Given the description of an element on the screen output the (x, y) to click on. 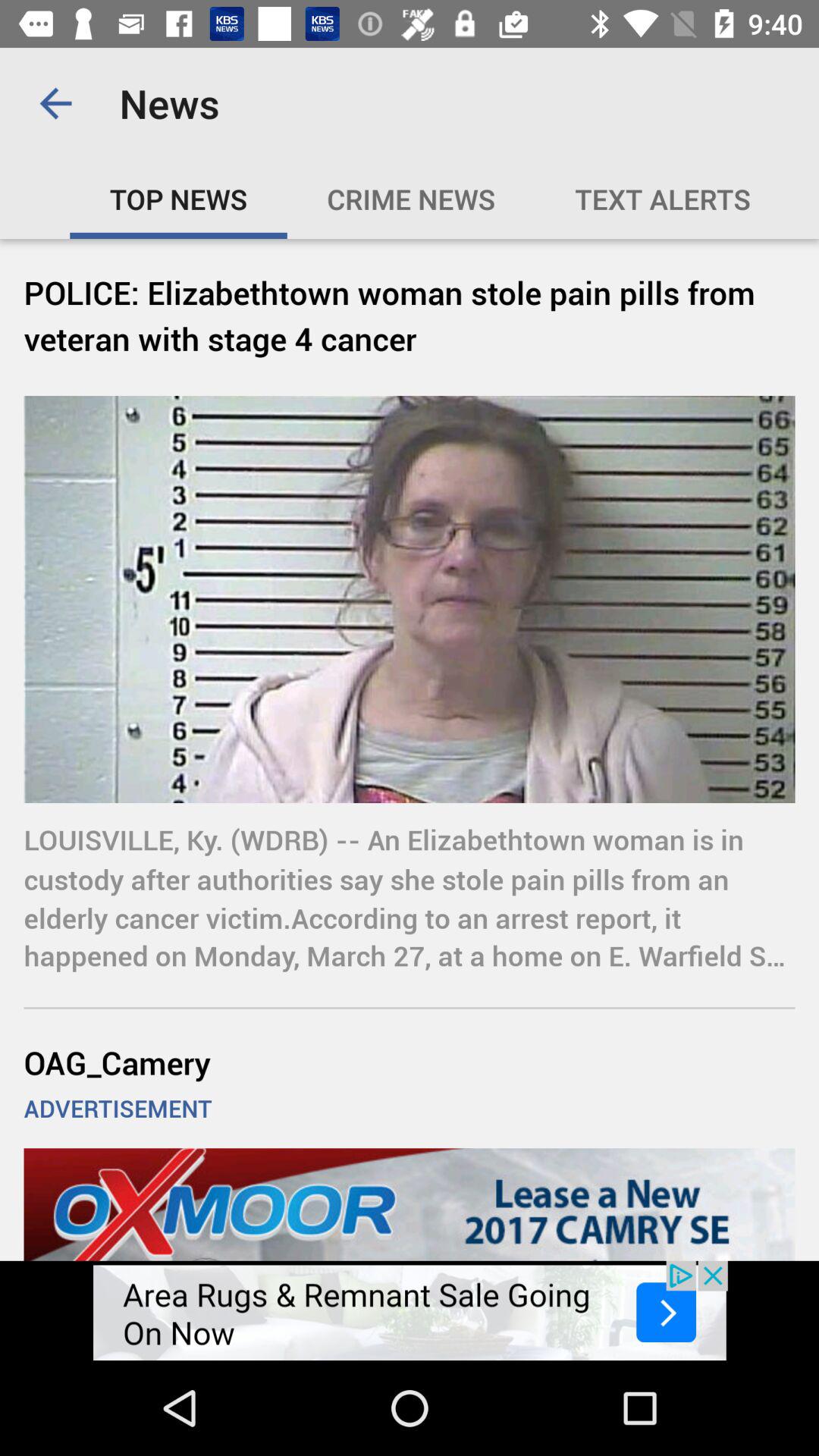
turn off app to the left of the news app (55, 103)
